Given the description of an element on the screen output the (x, y) to click on. 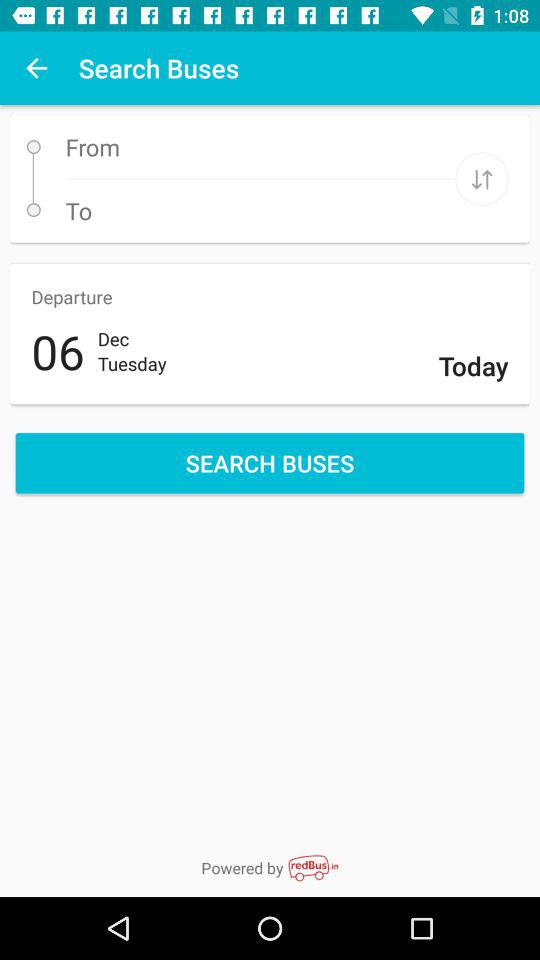
choose the item to the left of the search buses (36, 68)
